Given the description of an element on the screen output the (x, y) to click on. 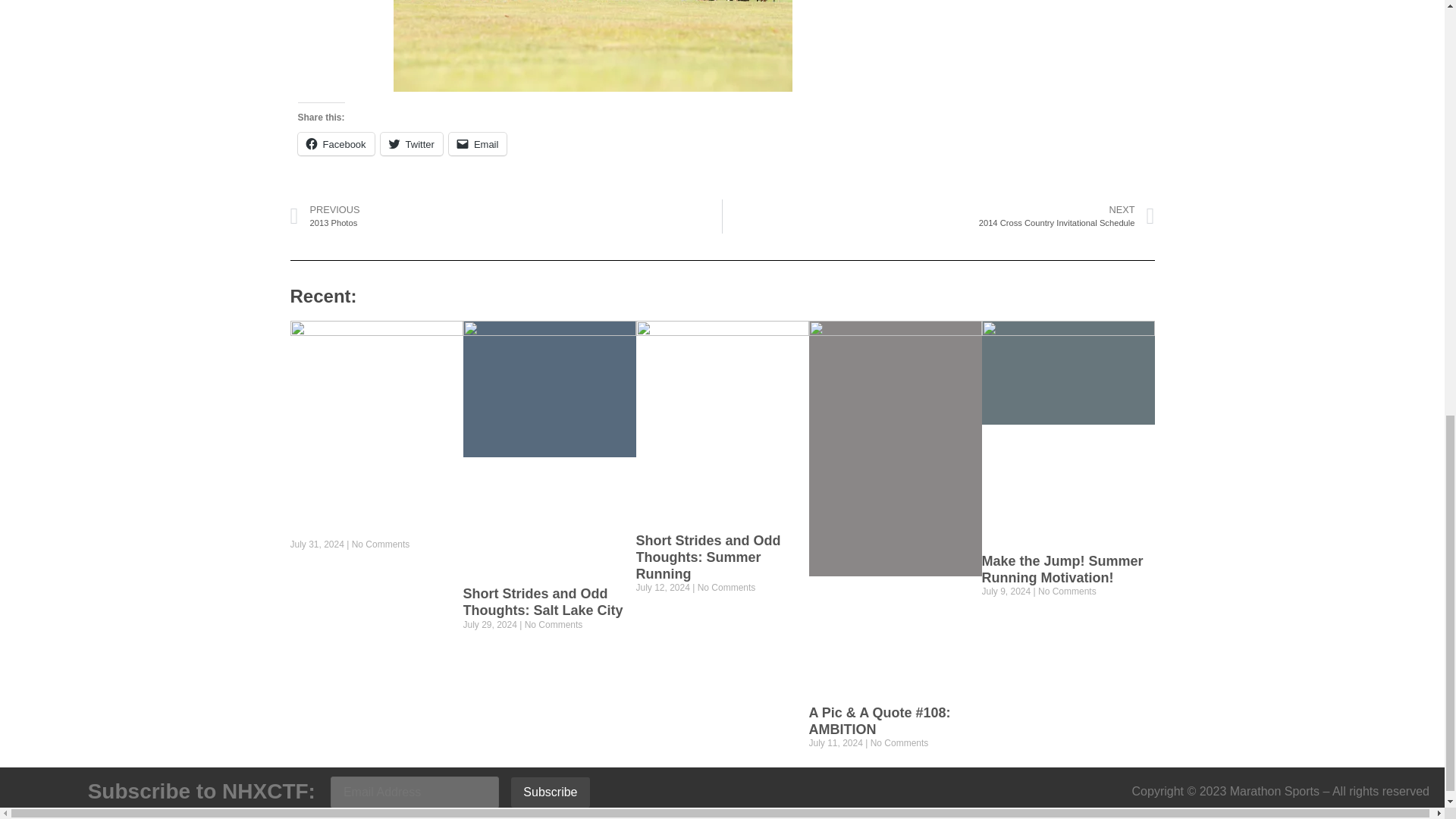
Click to share on Facebook (335, 143)
Click to email a link to a friend (477, 143)
Click to share on Twitter (411, 143)
